Given the description of an element on the screen output the (x, y) to click on. 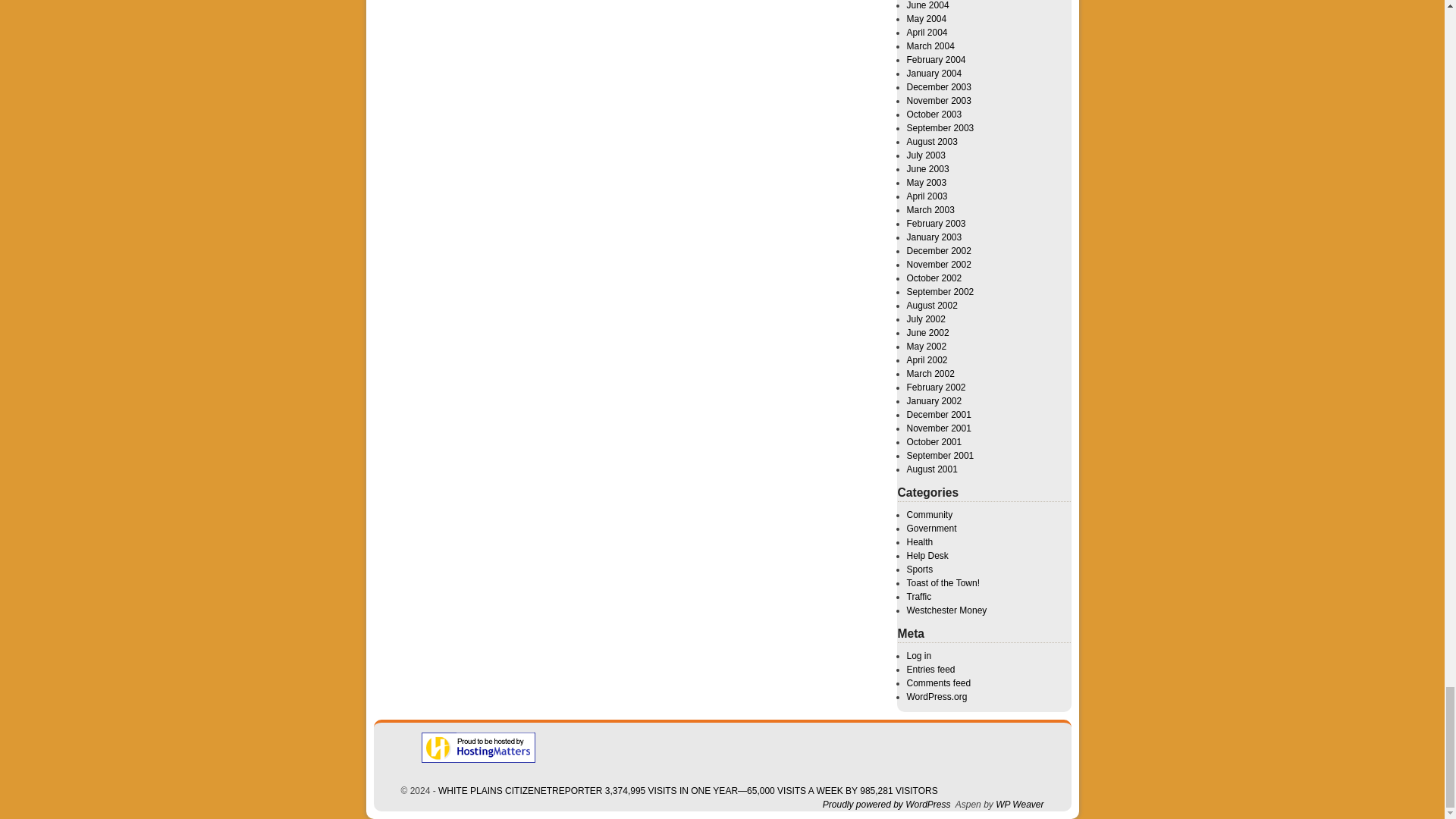
wordpress.org (886, 804)
